Given the description of an element on the screen output the (x, y) to click on. 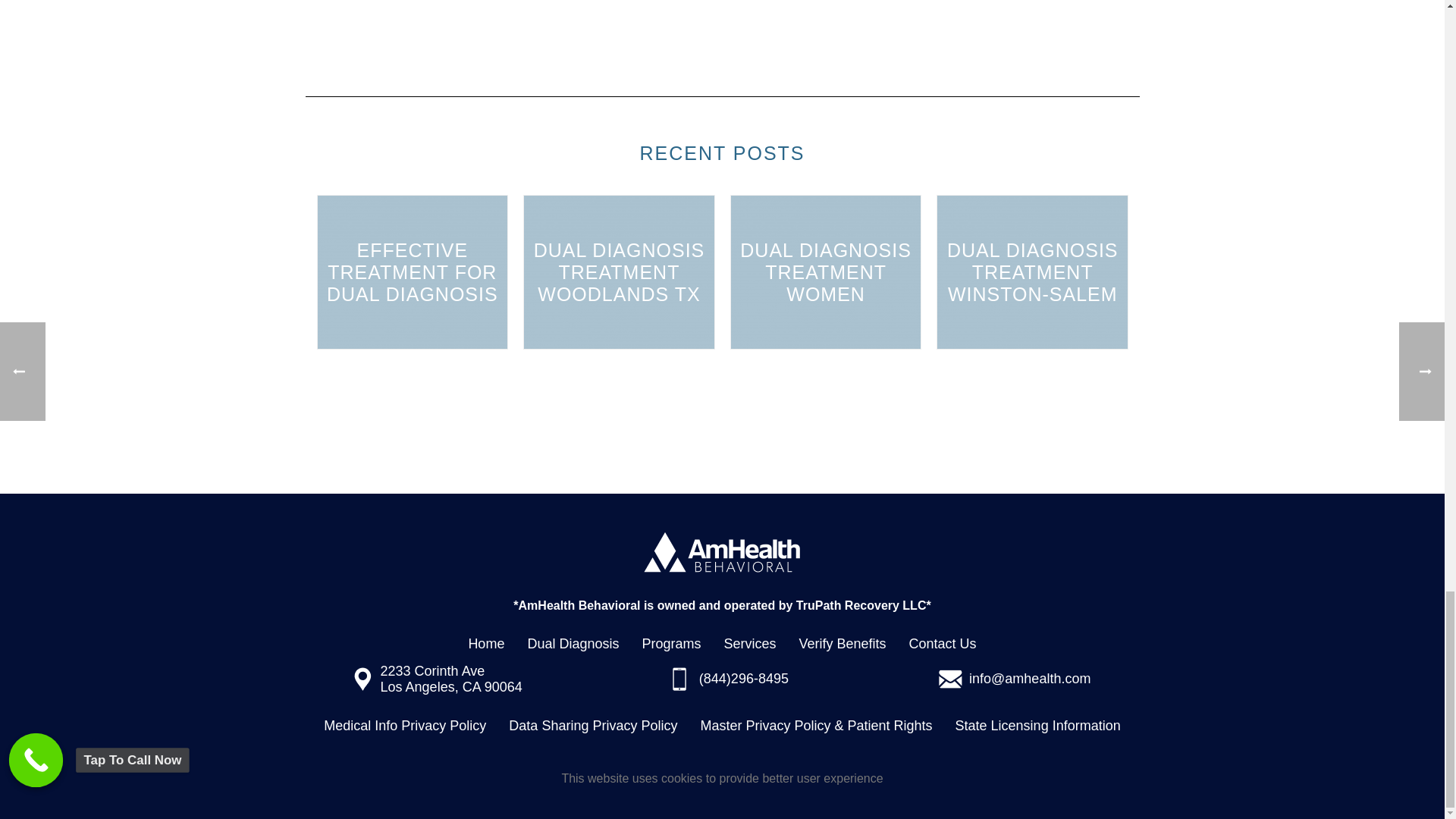
EFFECTIVE TREATMENT FOR DUAL DIAGNOSIS (411, 271)
Effective Treatment For Dual Diagnosis (411, 271)
Home (485, 643)
Dual Diagnosis (572, 643)
Verify Benefits (842, 643)
Dual Diagnosis Treatment Winston-Salem (1031, 271)
DUAL DIAGNOSIS TREATMENT WINSTON-SALEM (1031, 271)
Services (749, 643)
Programs (671, 643)
Contact Us (942, 643)
